Given the description of an element on the screen output the (x, y) to click on. 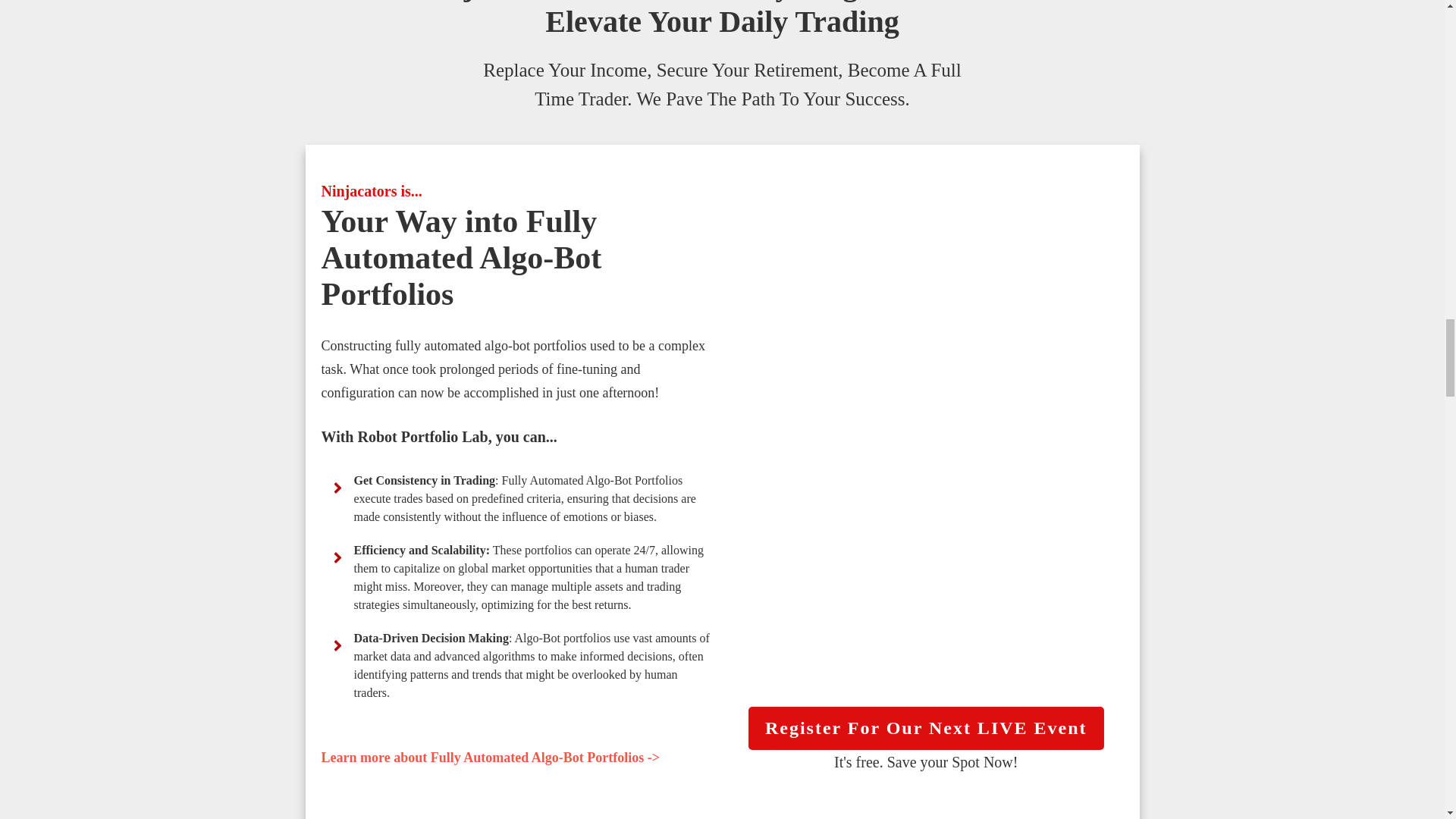
Register For Our Next LIVE Event (925, 728)
